Given the description of an element on the screen output the (x, y) to click on. 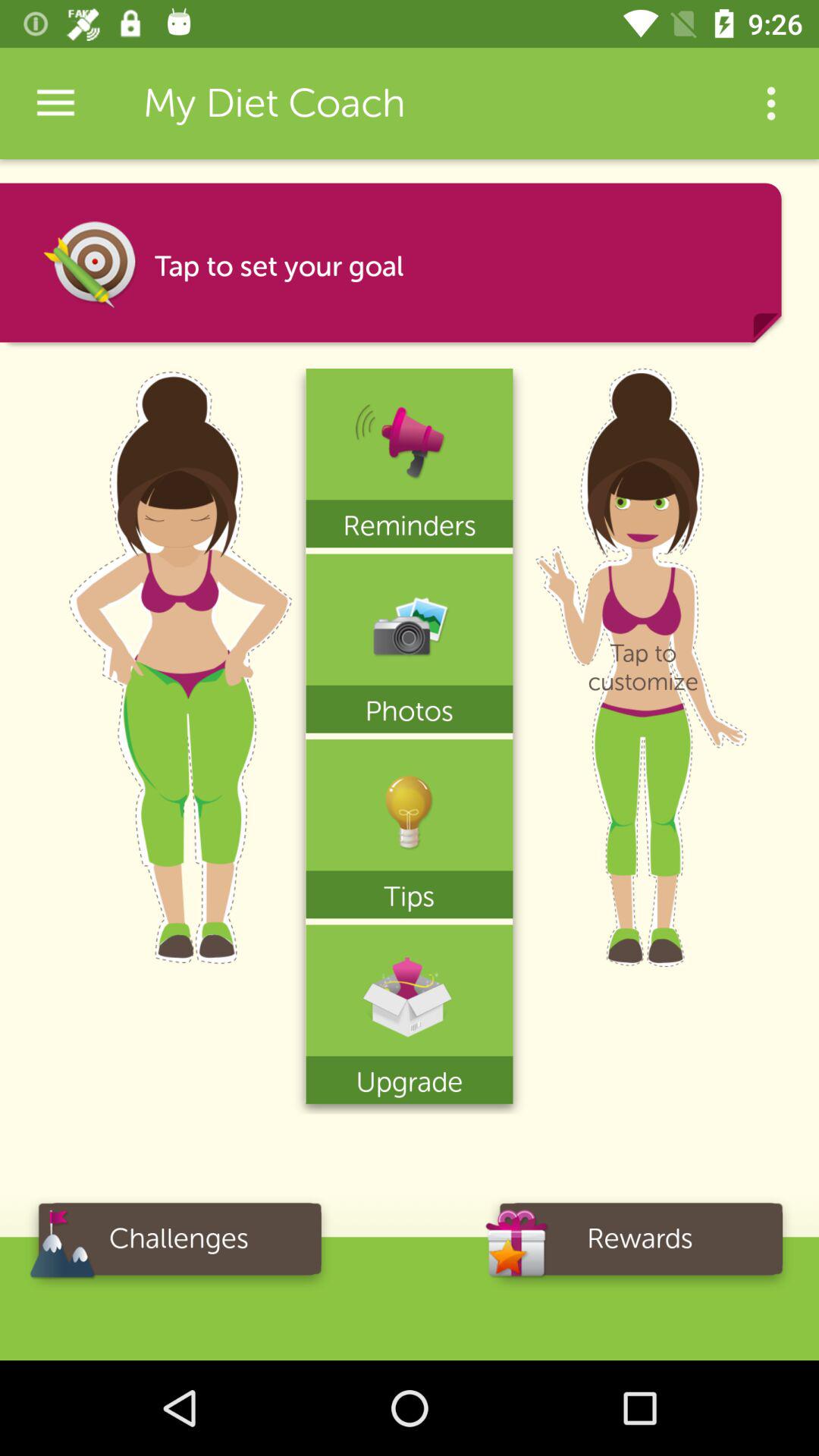
turn on challenges item (178, 1243)
